Given the description of an element on the screen output the (x, y) to click on. 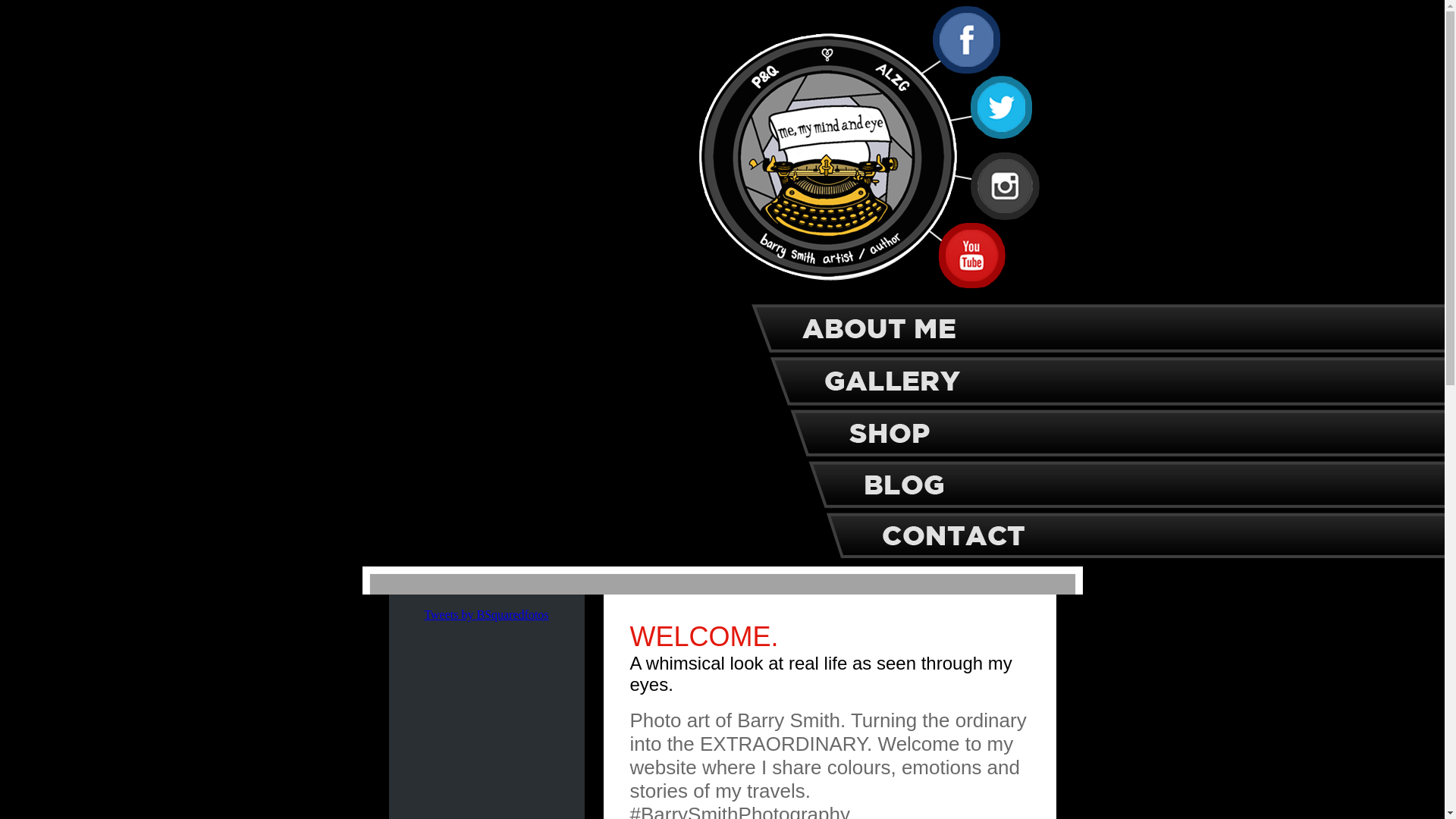
Tweets by BSquaredfotos Element type: text (485, 614)
